Given the description of an element on the screen output the (x, y) to click on. 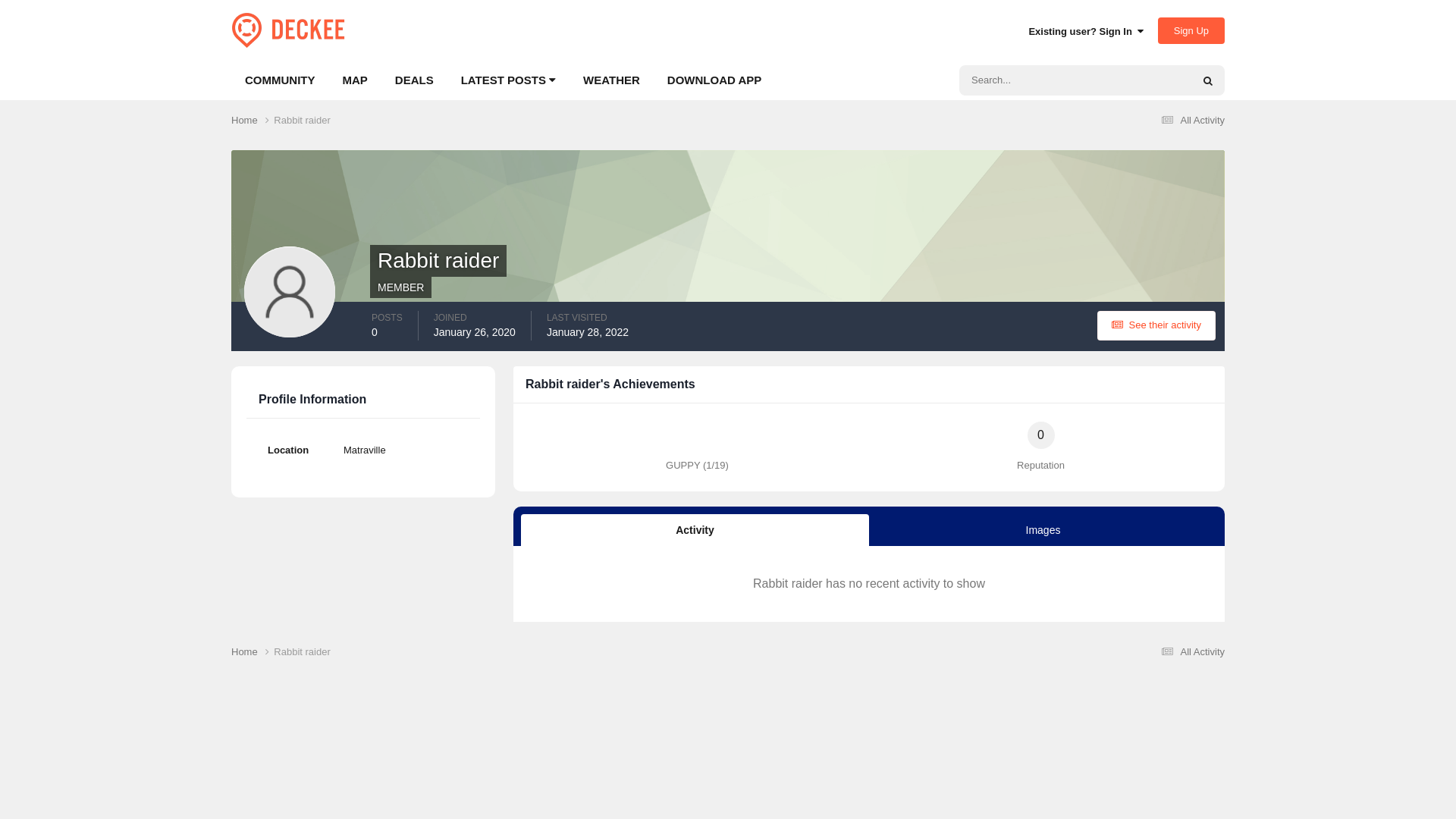
Rabbit raider Element type: text (301, 119)
All Activity Element type: text (1190, 651)
Rank: GUPPY (1/19) Element type: hover (697, 434)
Sign Up Element type: text (1190, 29)
COMMUNITY Element type: text (280, 80)
Images Element type: text (1043, 530)
Rabbit raider Element type: text (301, 651)
DOWNLOAD APP Element type: text (714, 80)
DEALS Element type: text (414, 80)
 See their activity Element type: text (1156, 325)
All Activity Element type: text (1190, 119)
Home Element type: text (252, 651)
WEATHER Element type: text (611, 80)
MAP Element type: text (355, 80)
Activity Element type: text (694, 530)
Existing user? Sign In   Element type: text (1085, 31)
LATEST POSTS Element type: text (508, 80)
Home Element type: text (252, 120)
